Given the description of an element on the screen output the (x, y) to click on. 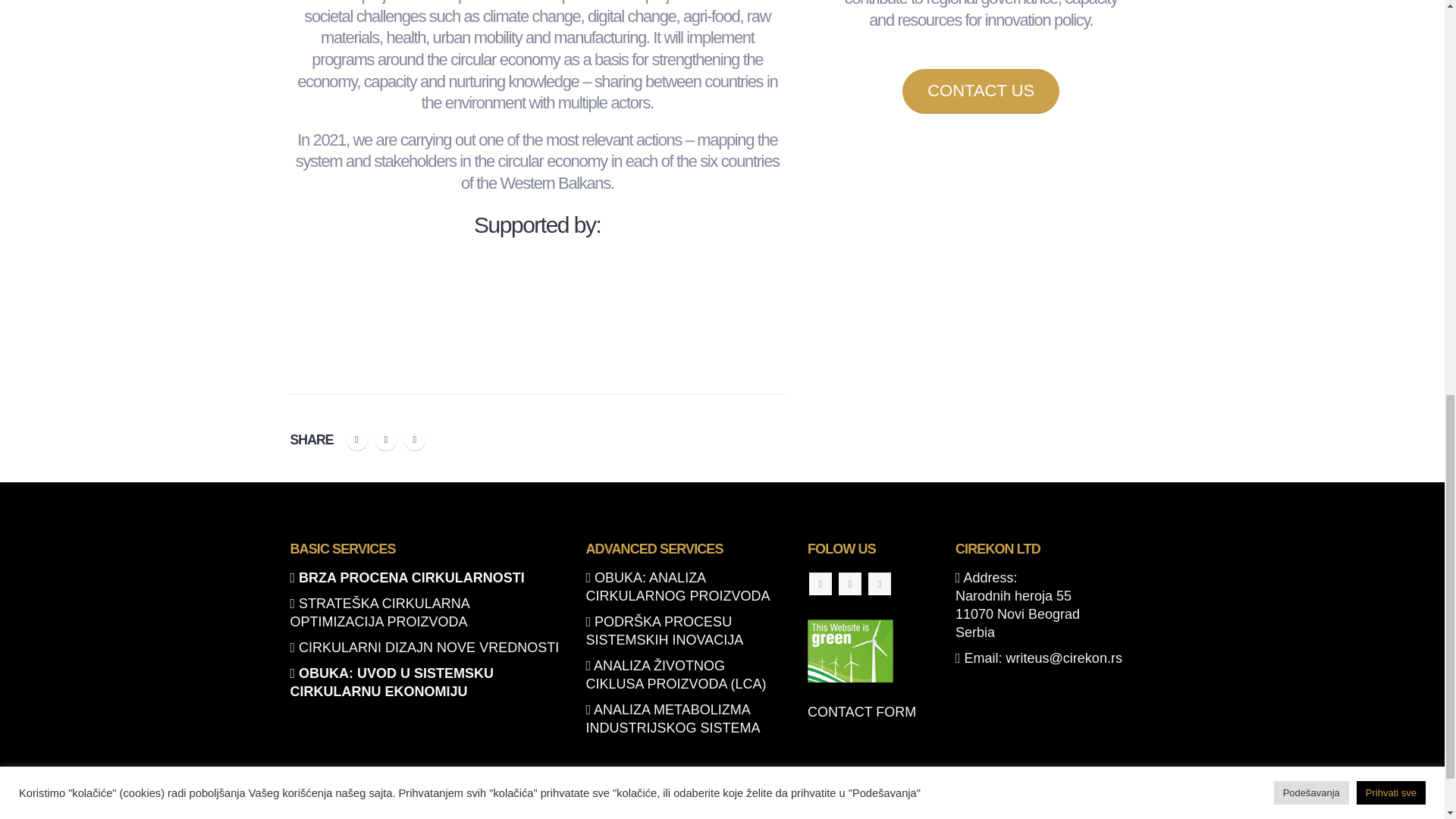
LinkedIn (414, 439)
Facebook (820, 583)
Facebook (357, 439)
Twitter (385, 439)
